Given the description of an element on the screen output the (x, y) to click on. 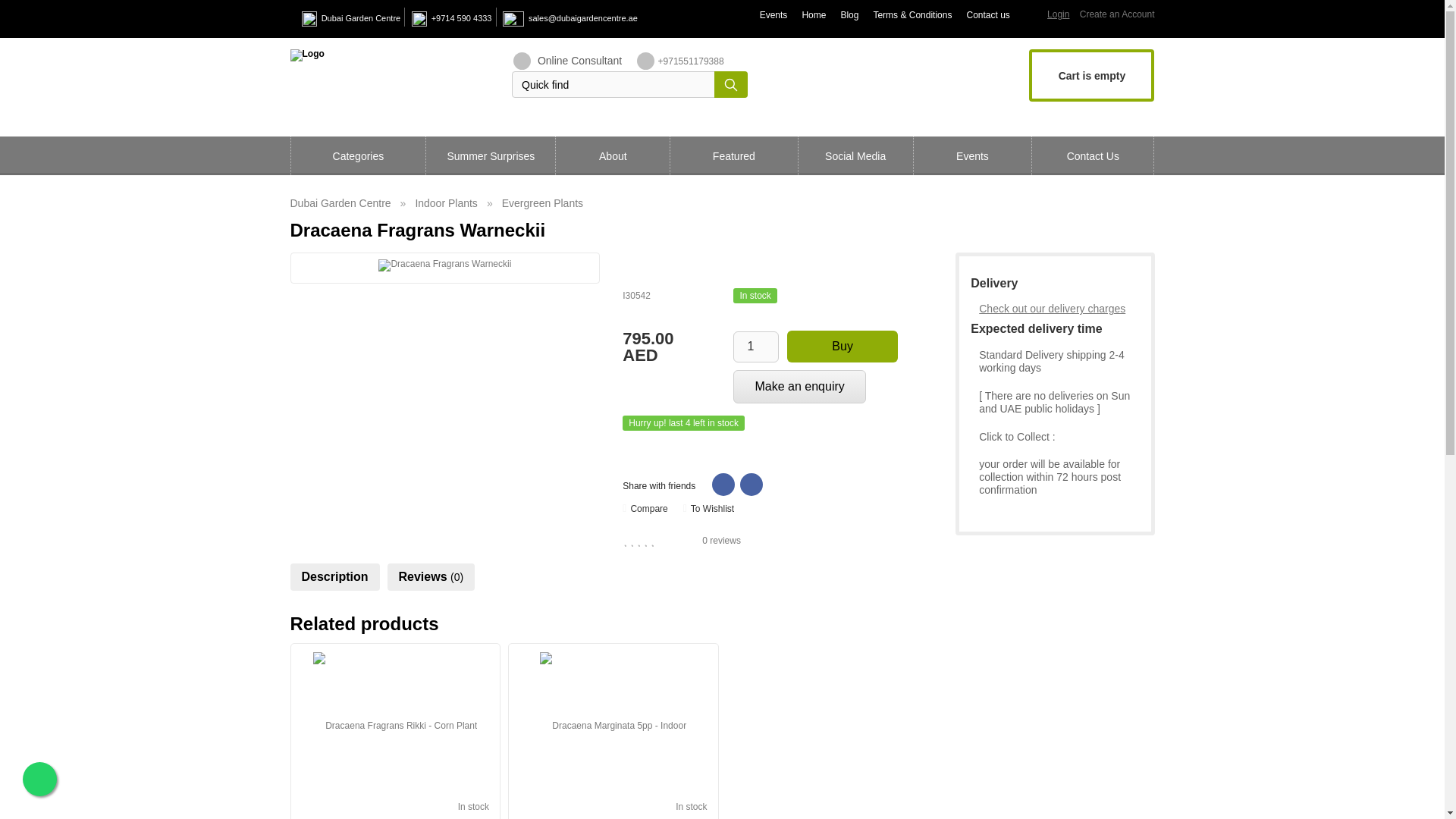
Buy Dracaena Marginata 5pp - Indoor (612, 725)
Dubai Garden Centre (361, 17)
Blog (849, 14)
Buy Dracaena Fragrans Warneckii (444, 265)
Create an Account (1117, 14)
Login (1057, 14)
Events (773, 14)
1 (755, 345)
Categories (358, 155)
Home (813, 14)
